Given the description of an element on the screen output the (x, y) to click on. 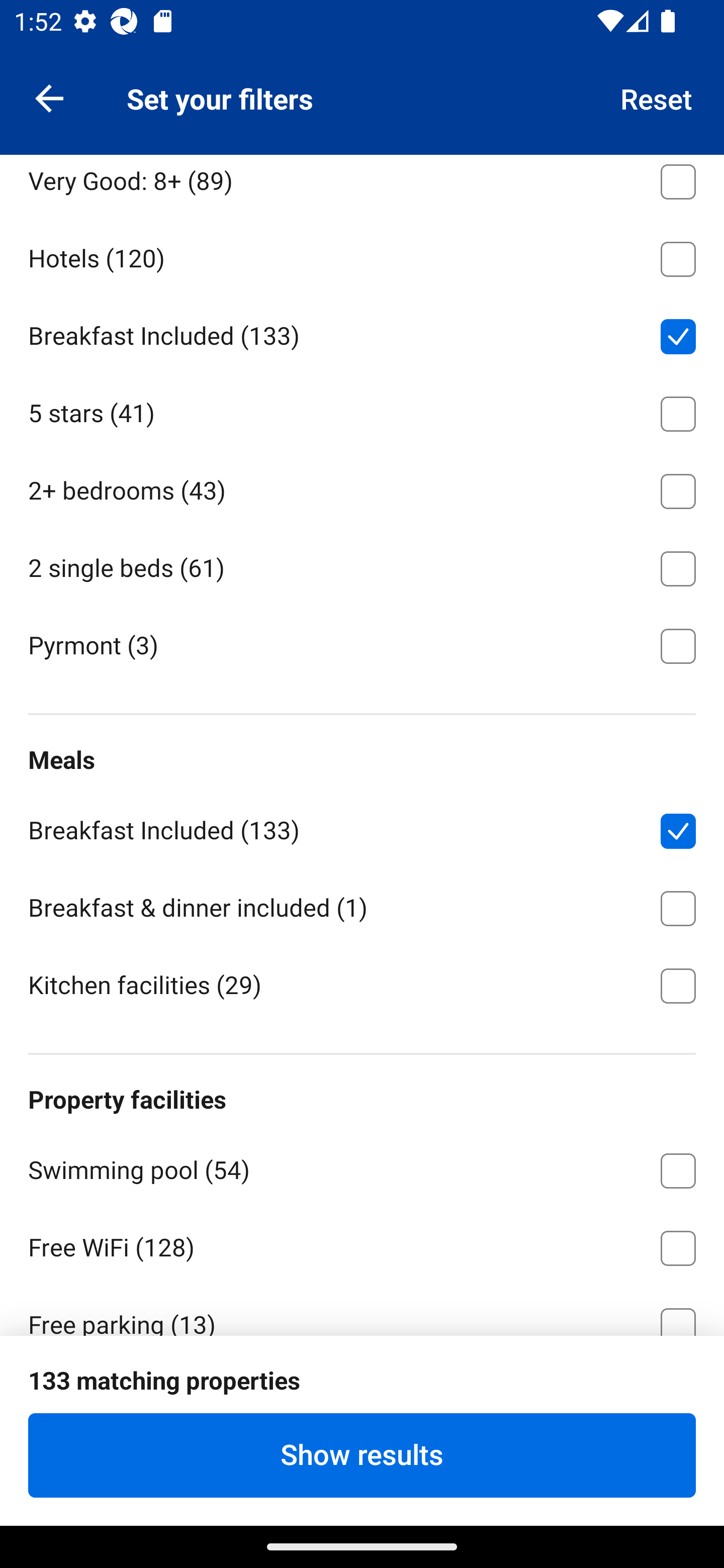
Navigate up (49, 97)
Reset (656, 97)
Apartments ⁦(12) (361, 100)
Very Good: 8+ ⁦(89) (361, 185)
Hotels ⁦(120) (361, 255)
Breakfast Included ⁦(133) (361, 332)
5 stars ⁦(41) (361, 410)
2+ bedrooms ⁦(43) (361, 488)
2 single beds ⁦(61) (361, 564)
Pyrmont ⁦(3) (361, 644)
Breakfast Included ⁦(133) (361, 827)
Breakfast & dinner included ⁦(1) (361, 905)
Kitchen facilities ⁦(29) (361, 984)
Swimming pool ⁦(54) (361, 1166)
Free WiFi ⁦(128) (361, 1244)
Free parking ⁦(13) (361, 1309)
Pet friendly ⁦(11) (361, 1399)
Show results (361, 1454)
